Given the description of an element on the screen output the (x, y) to click on. 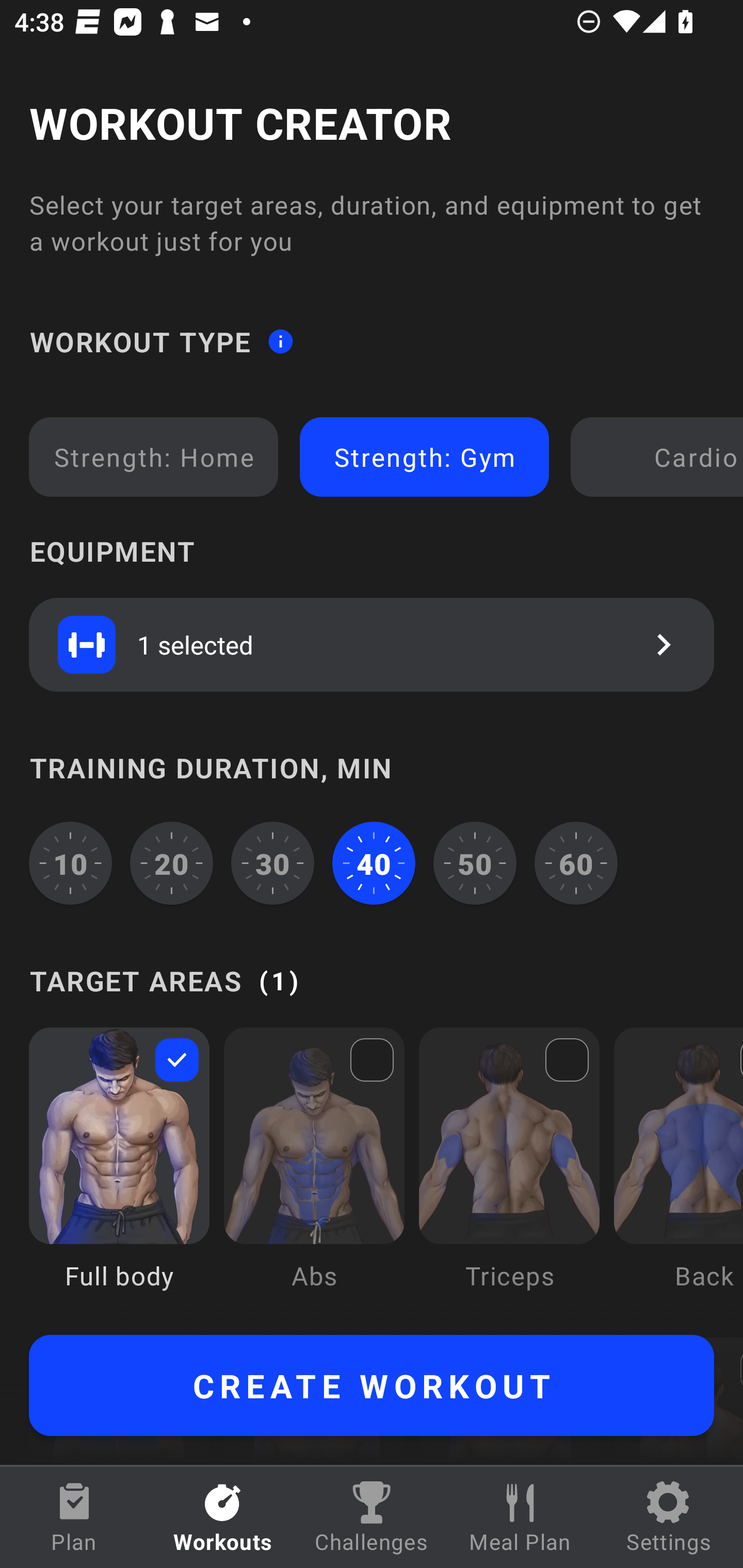
Workout type information button (280, 340)
Strength: Home (153, 457)
Cardio (660, 457)
1 selected (371, 644)
10 (70, 863)
20 (171, 863)
30 (272, 863)
40 (373, 863)
50 (474, 863)
60 (575, 863)
Abs (313, 1172)
Triceps (509, 1172)
Back (678, 1172)
CREATE WORKOUT (371, 1385)
 Plan  (74, 1517)
 Challenges  (371, 1517)
 Meal Plan  (519, 1517)
 Settings  (668, 1517)
